Given the description of an element on the screen output the (x, y) to click on. 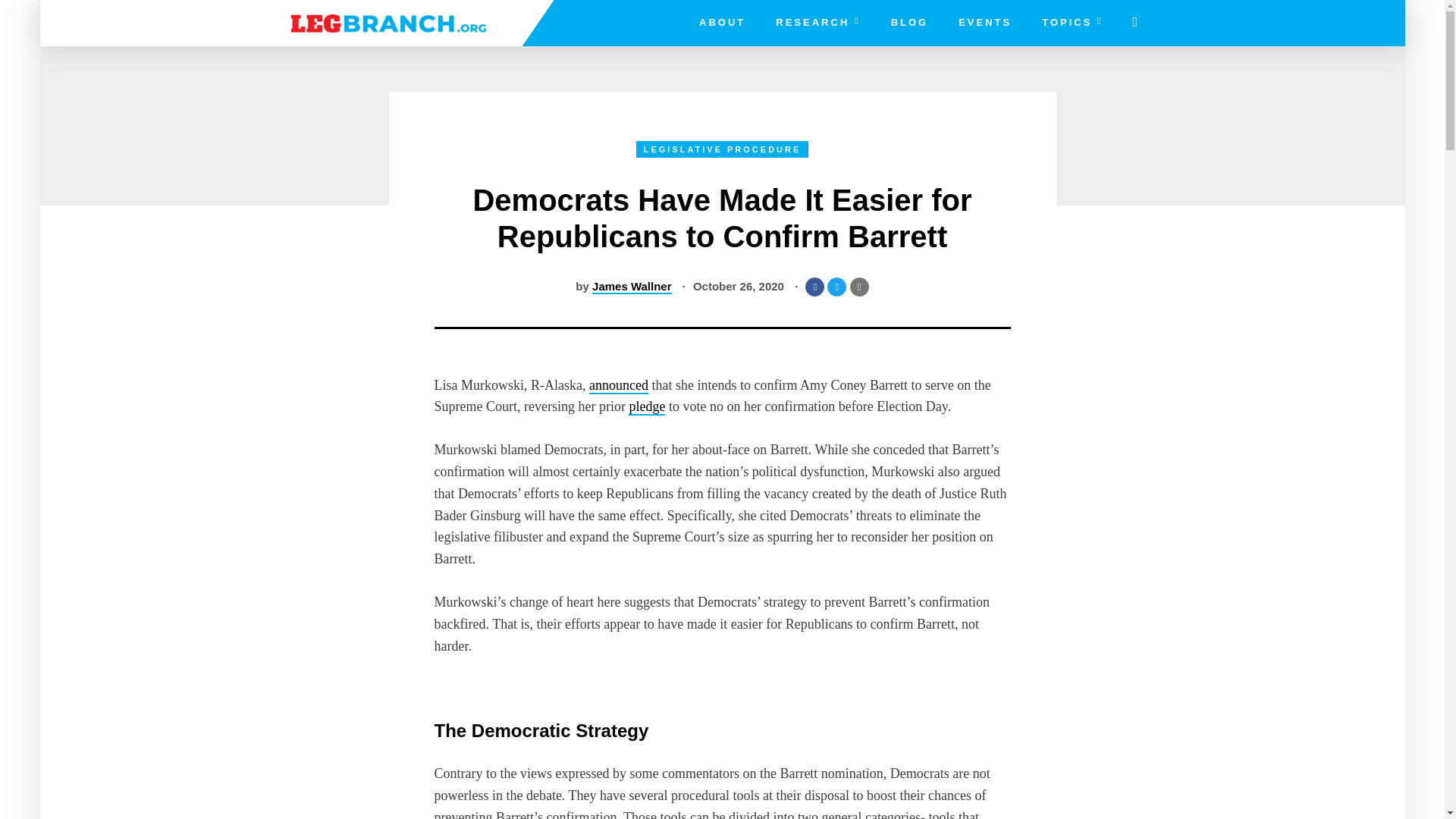
BLOG (909, 22)
EVENTS (984, 22)
RESEARCH (817, 22)
ABOUT (722, 22)
